Given the description of an element on the screen output the (x, y) to click on. 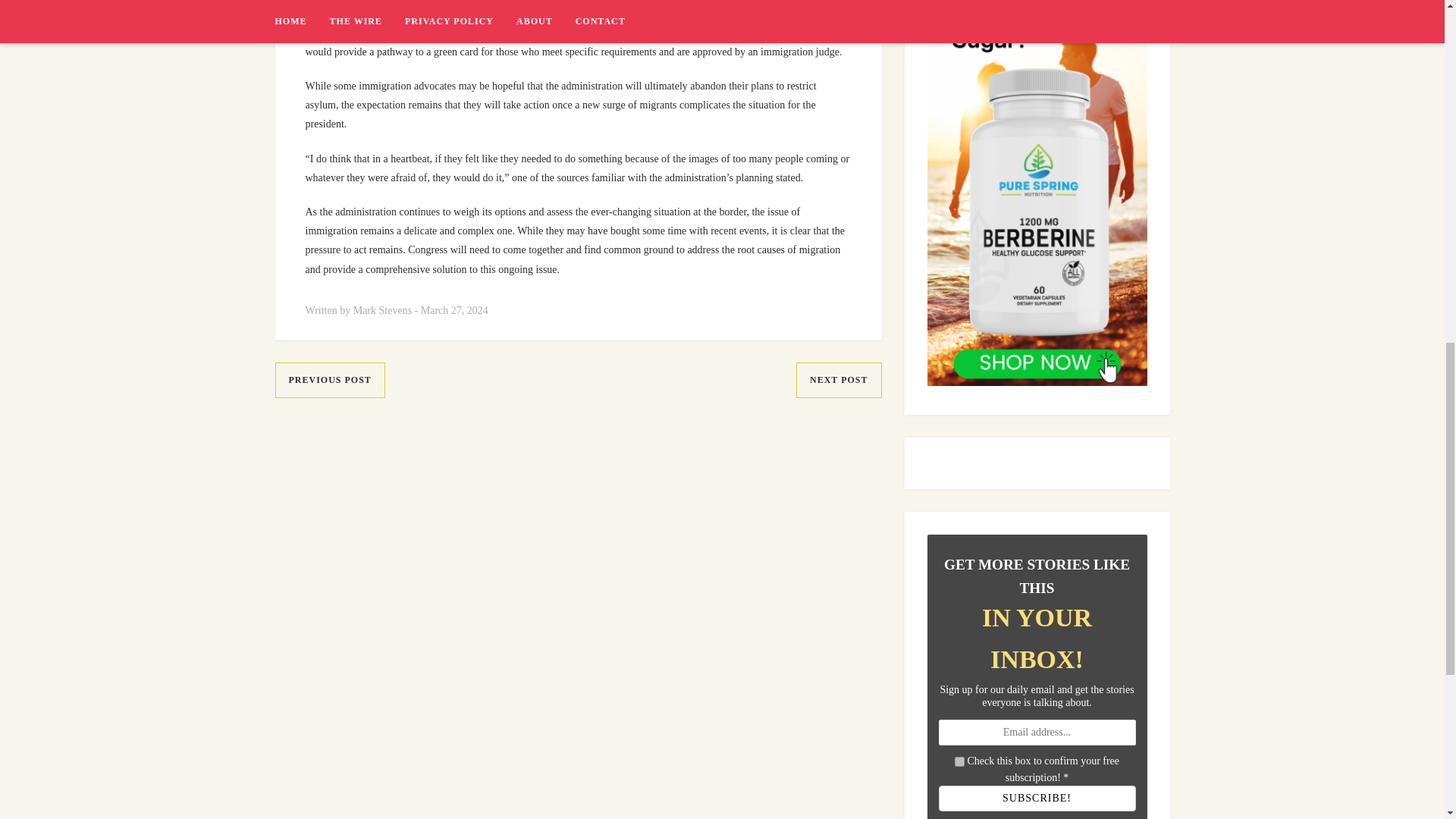
NEXT POST (838, 380)
PREVIOUS POST (329, 380)
SUBSCRIBE! (1037, 798)
1 (959, 761)
